Given the description of an element on the screen output the (x, y) to click on. 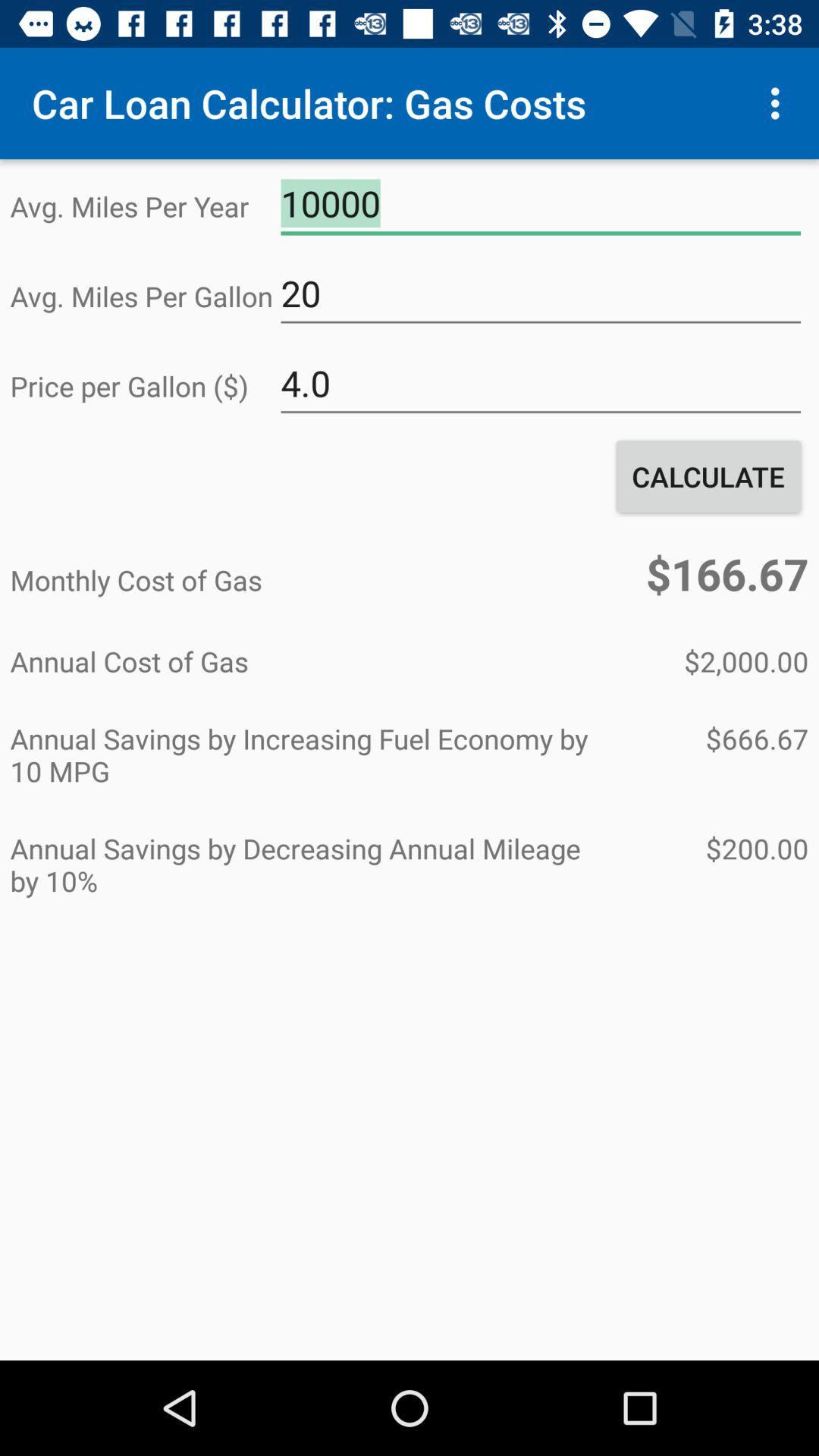
tap the 10000 (540, 204)
